Given the description of an element on the screen output the (x, y) to click on. 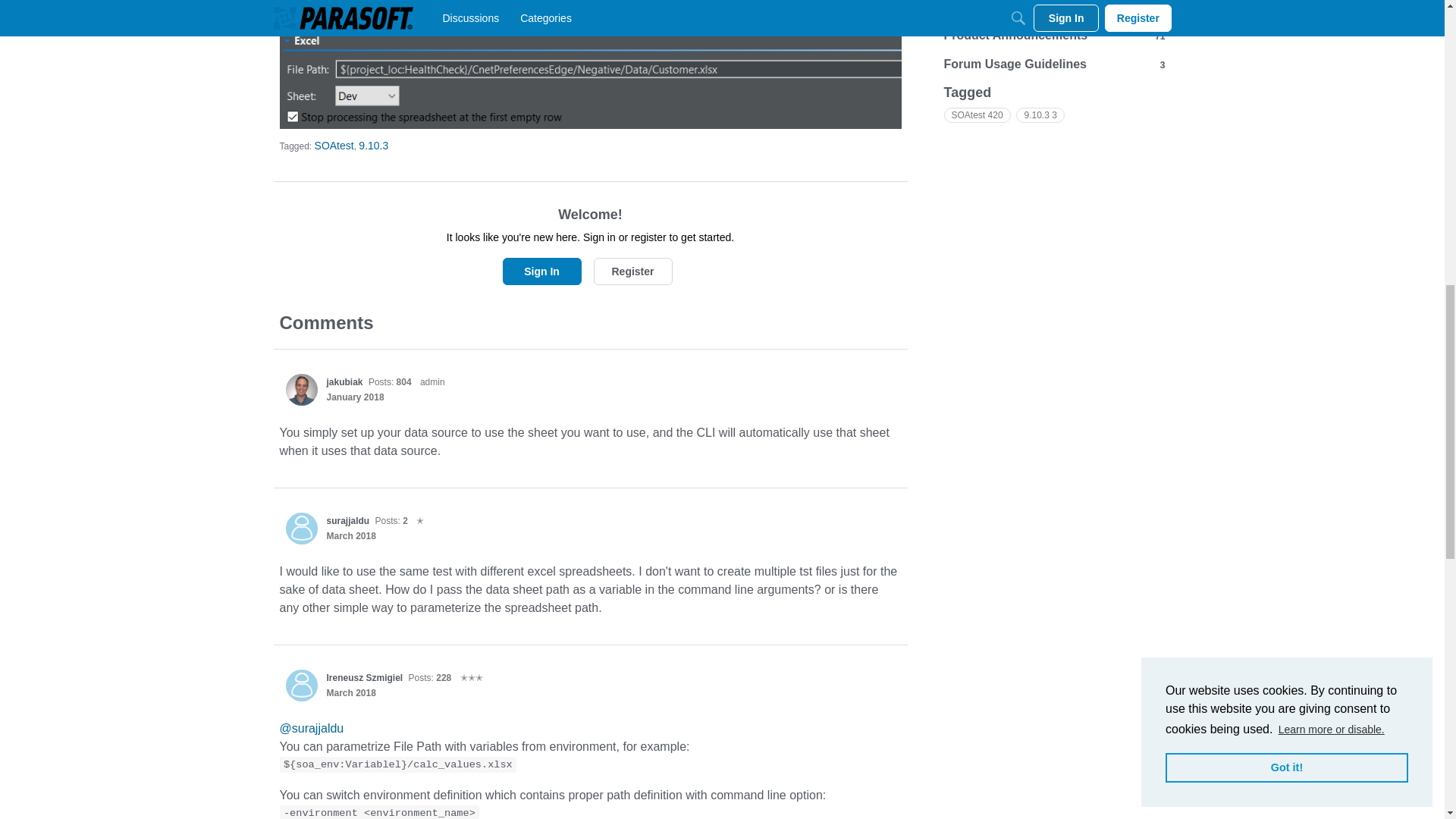
jakubiak (301, 389)
SOAtest (333, 145)
Ireneusz Szmigiel (364, 677)
Level 3 (471, 677)
March 2018 (350, 535)
Sign In (541, 271)
March 16, 2018 1:53PM (350, 535)
surajjaldu (301, 528)
Administrator (432, 382)
Register (631, 271)
